Given the description of an element on the screen output the (x, y) to click on. 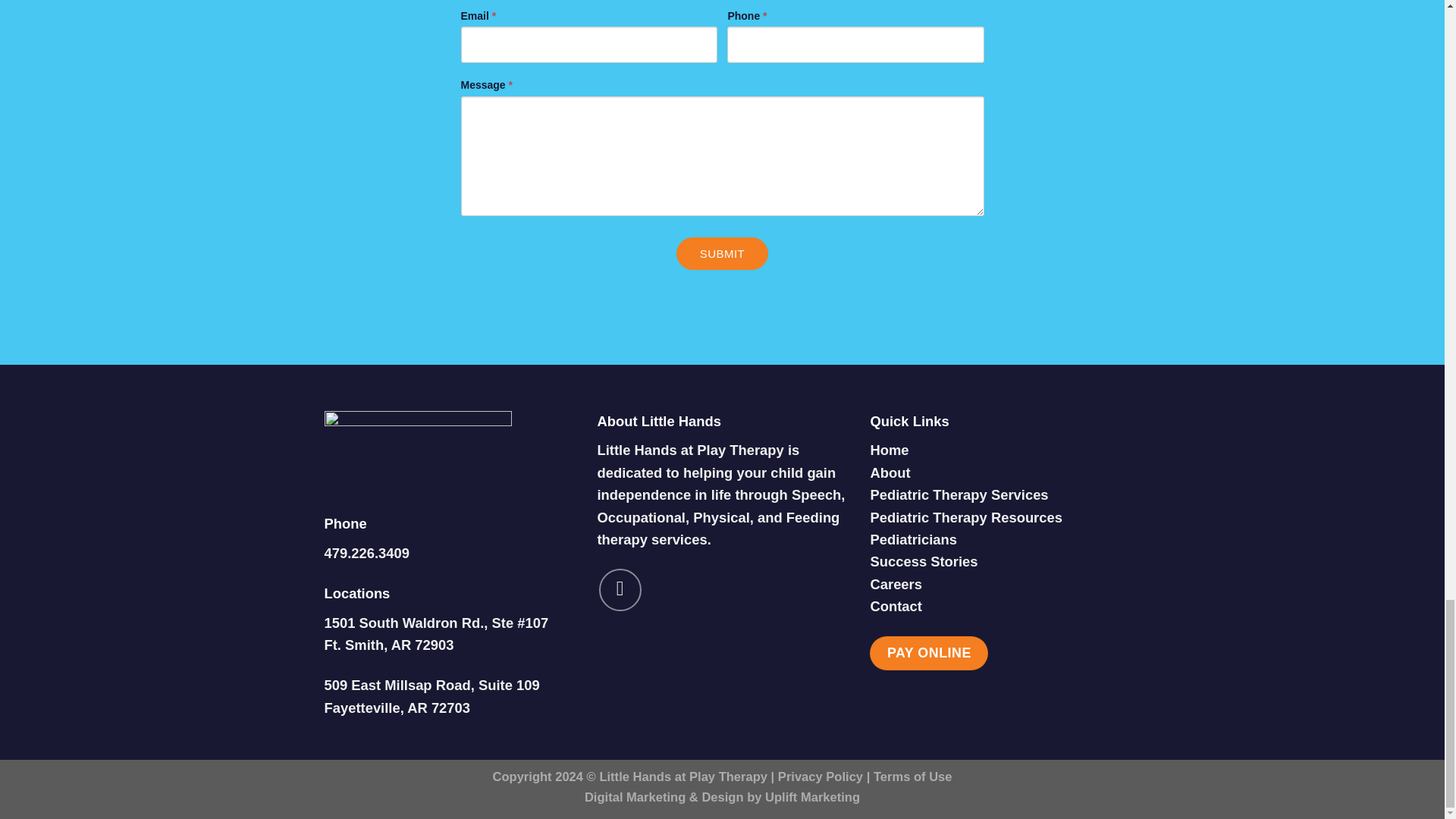
Pediatric Therapy Resources (965, 517)
Home (888, 449)
Privacy Policy (820, 776)
479.226.3409 (367, 553)
Pediatricians (912, 539)
Careers (895, 584)
Terms of Use (912, 776)
Success Stories (922, 561)
SUBMIT (722, 253)
PAY ONLINE (928, 653)
